Given the description of an element on the screen output the (x, y) to click on. 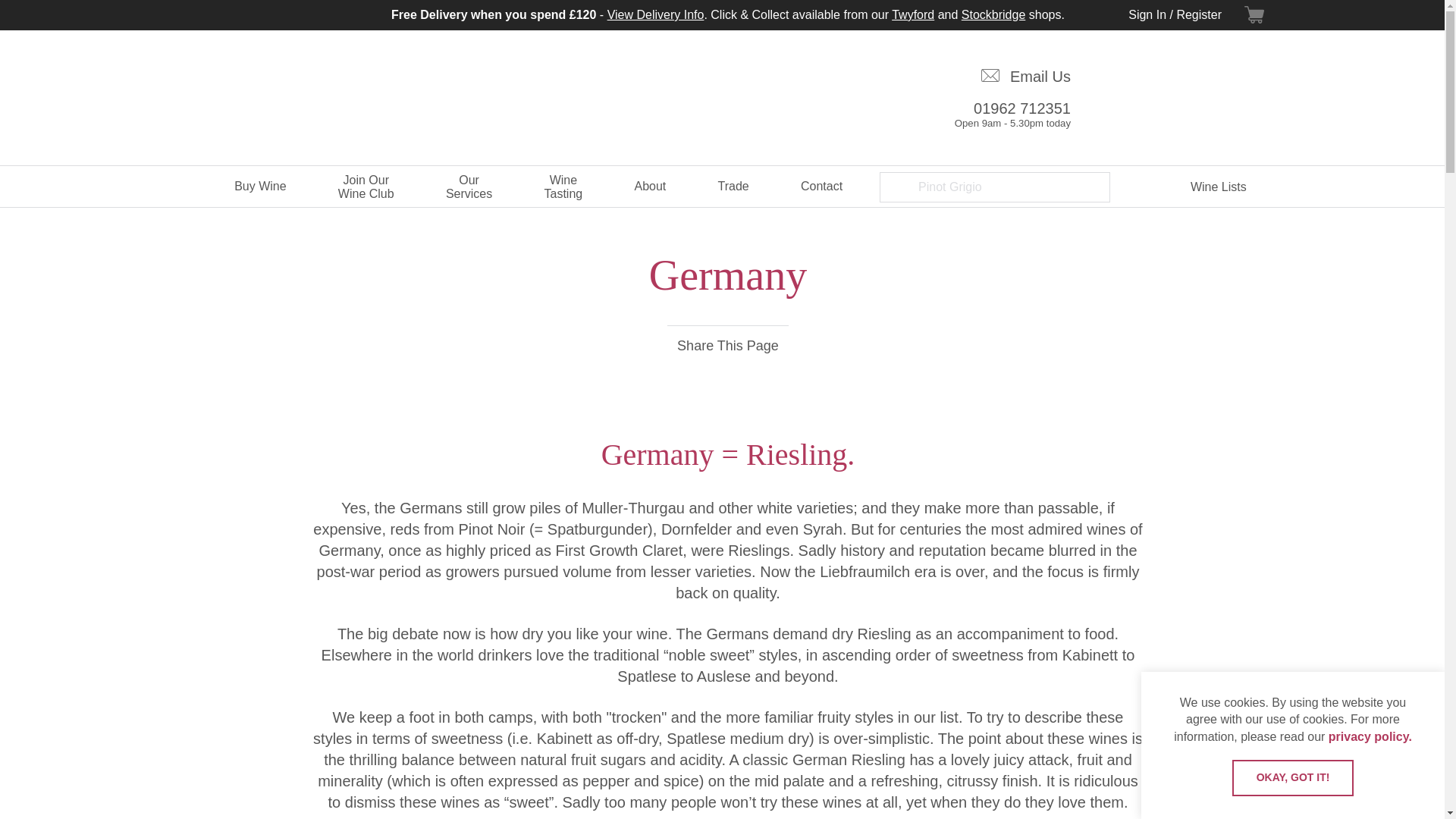
View Delivery Info (655, 14)
Buy Wine (260, 187)
Email Us (997, 71)
Twyford (912, 14)
Buy Wine (260, 187)
Home (186, 186)
Call Us Now (997, 109)
Stockbridge (993, 14)
Twyford (997, 109)
View Basket (912, 14)
Home (1267, 15)
Download our Wine Lists (186, 186)
Stockbridge (1201, 119)
View Delivery Info (993, 14)
